Given the description of an element on the screen output the (x, y) to click on. 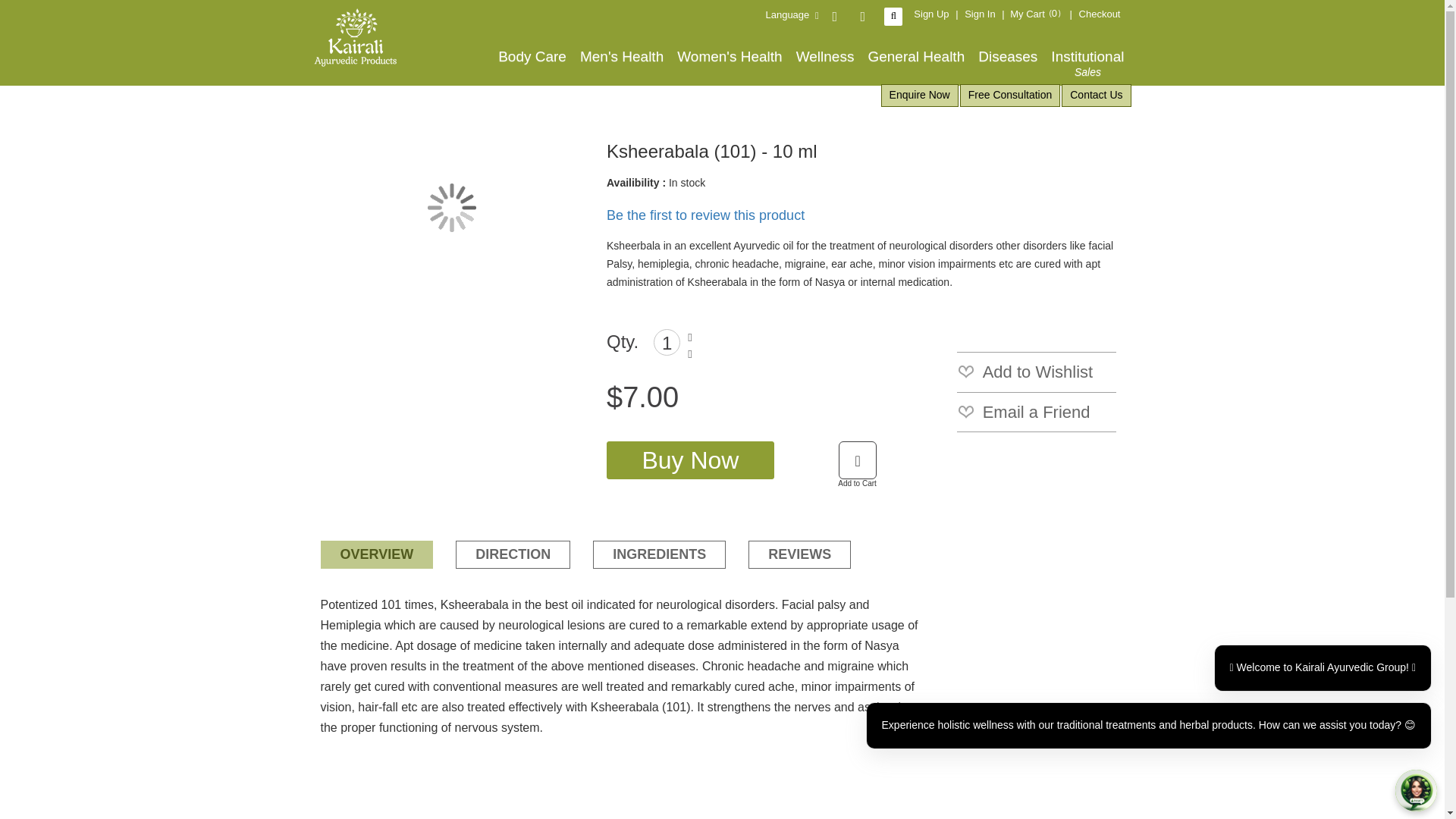
General Health (1086, 64)
DIRECTION (915, 56)
Be the first to review this product (512, 554)
Checkout (706, 215)
Men's Health (1099, 13)
Buy Now (621, 56)
Email a Friend (690, 460)
REVIEWS (1036, 412)
My Cart 0 (799, 554)
Diseases (1037, 14)
Women's Health (1007, 56)
Add to Wishlist (730, 56)
Contact Us (1036, 372)
OVERVIEW (1096, 95)
